Given the description of an element on the screen output the (x, y) to click on. 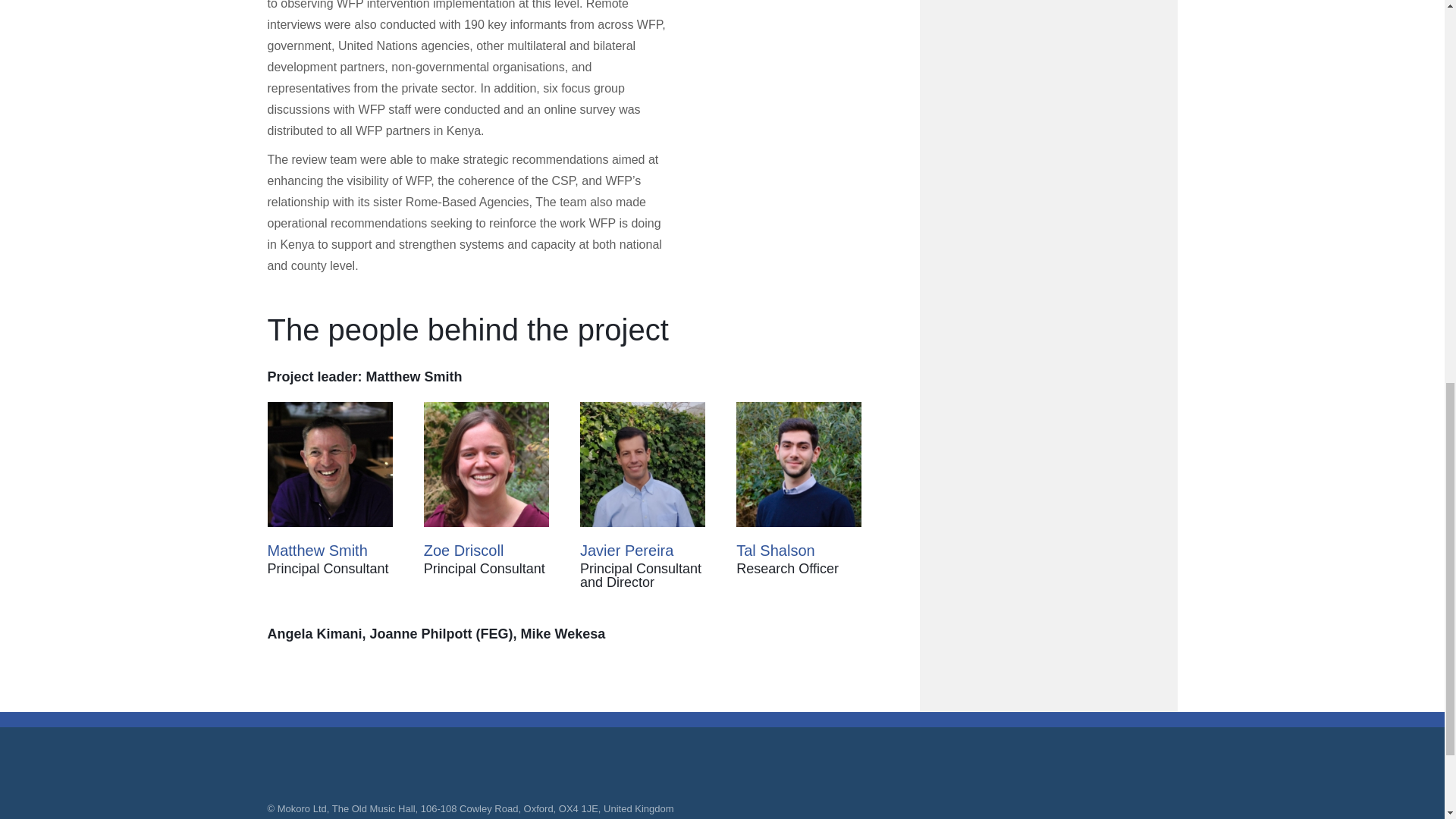
Matthew Smith (316, 549)
Zoe Driscoll (463, 549)
